Given the description of an element on the screen output the (x, y) to click on. 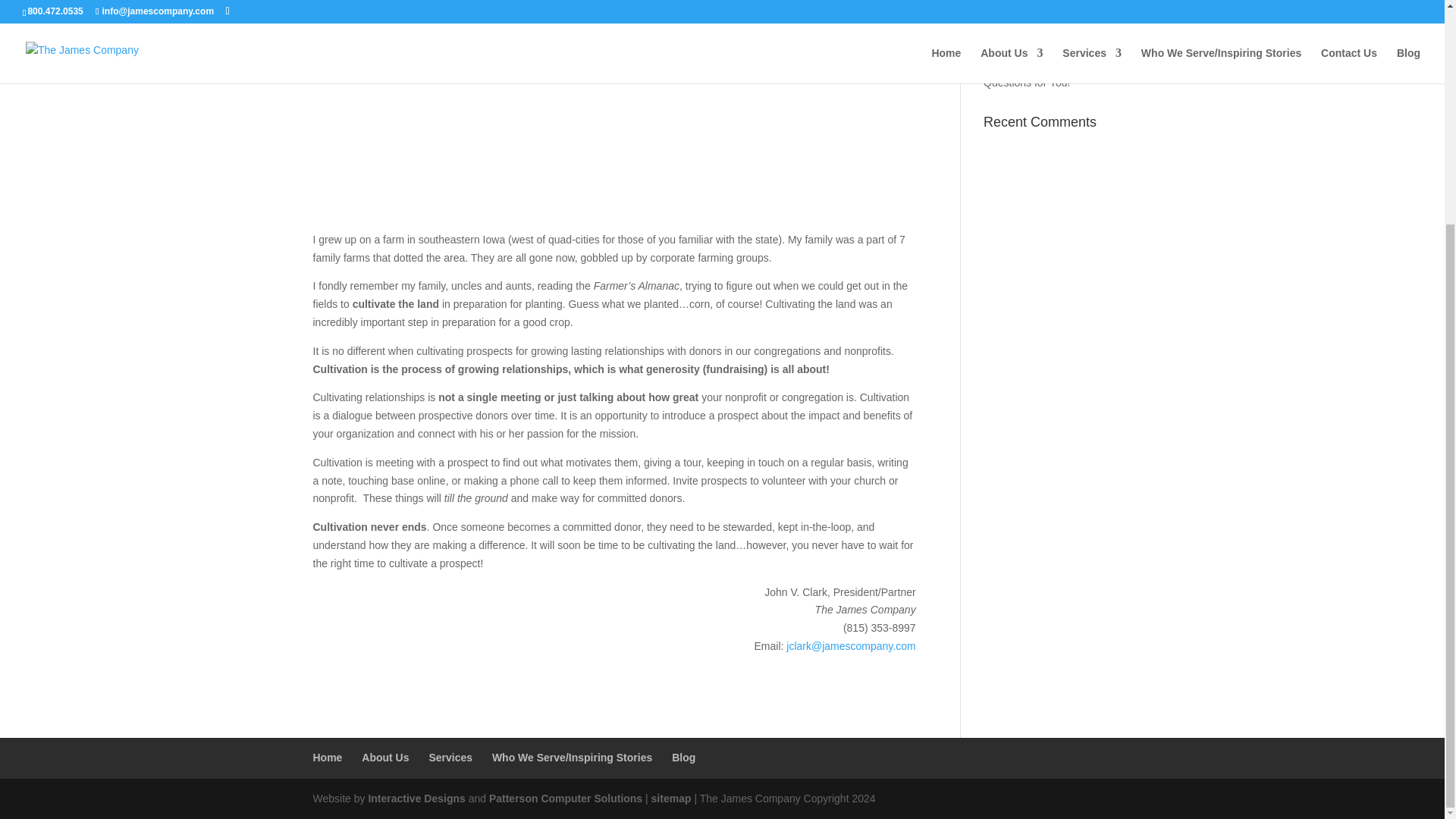
Services (449, 757)
Patterson Computer Solutions (565, 798)
Interactive Designs (416, 798)
sitemap (670, 798)
Blog (683, 757)
About Us (385, 757)
Home (327, 757)
